Given the description of an element on the screen output the (x, y) to click on. 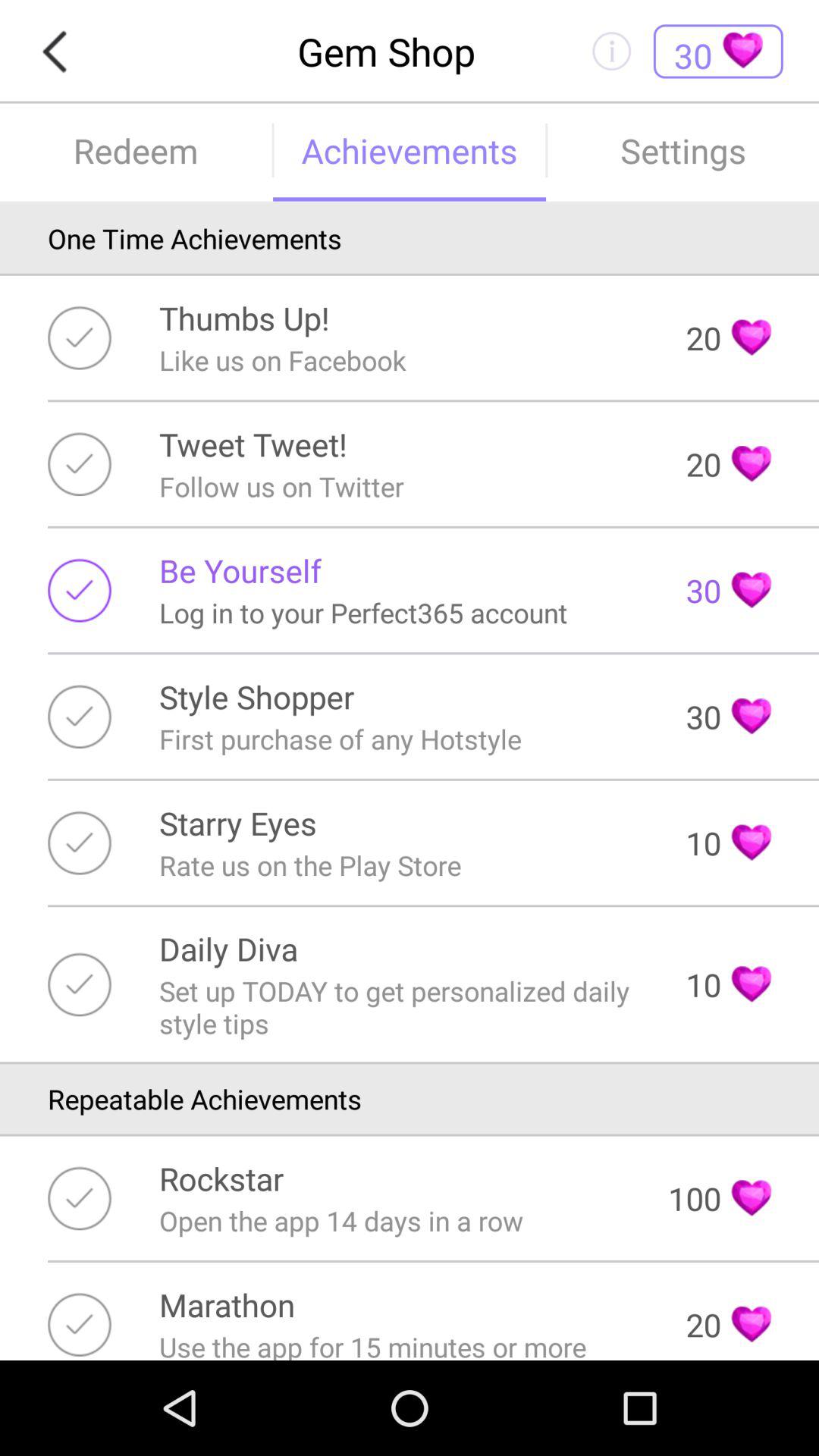
press the item next to the open the app item (719, 1197)
